Given the description of an element on the screen output the (x, y) to click on. 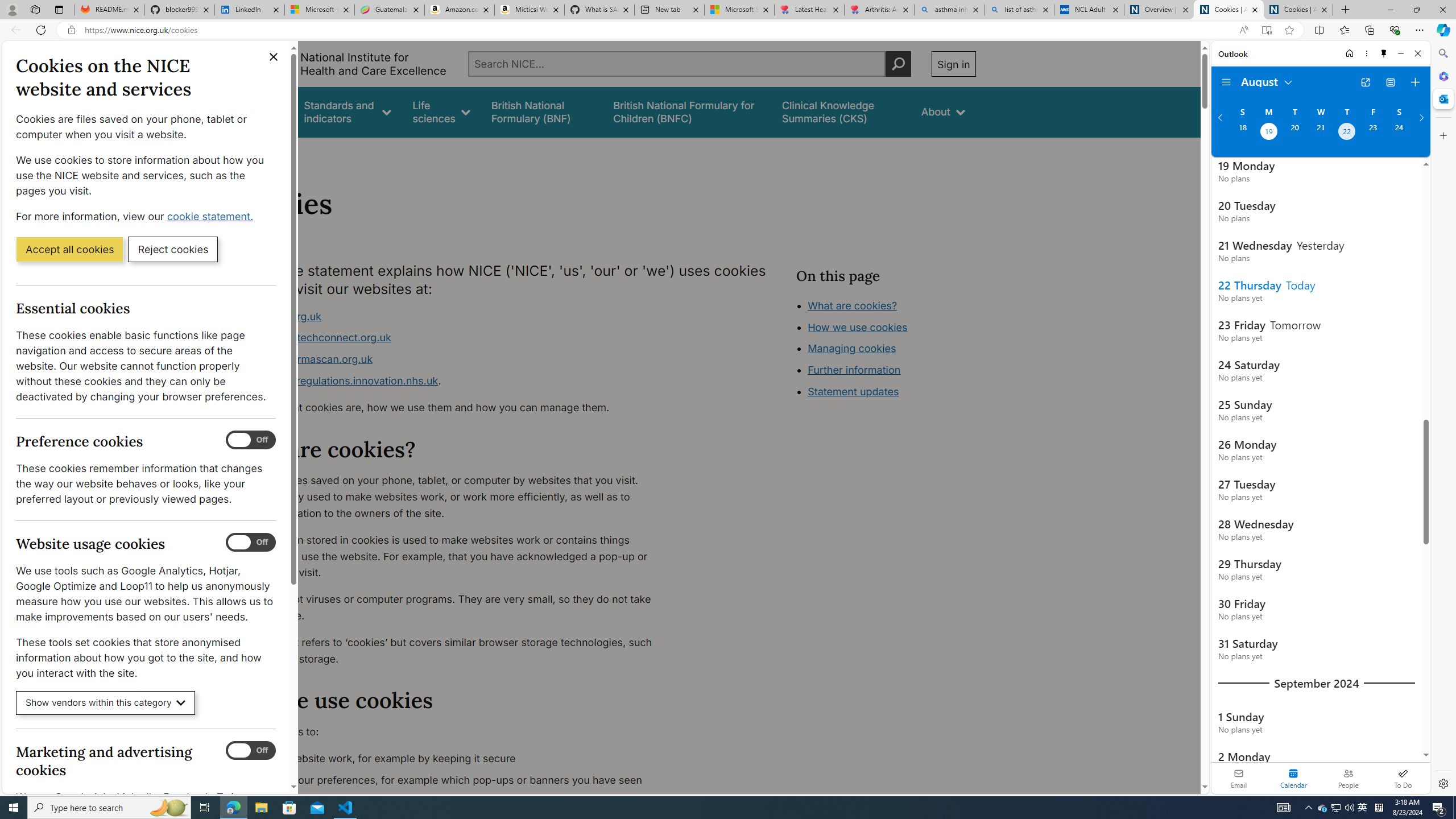
www.ukpharmascan.org.uk (305, 359)
Class: in-page-nav__list (884, 349)
Friday, August 23, 2024.  (1372, 132)
